Given the description of an element on the screen output the (x, y) to click on. 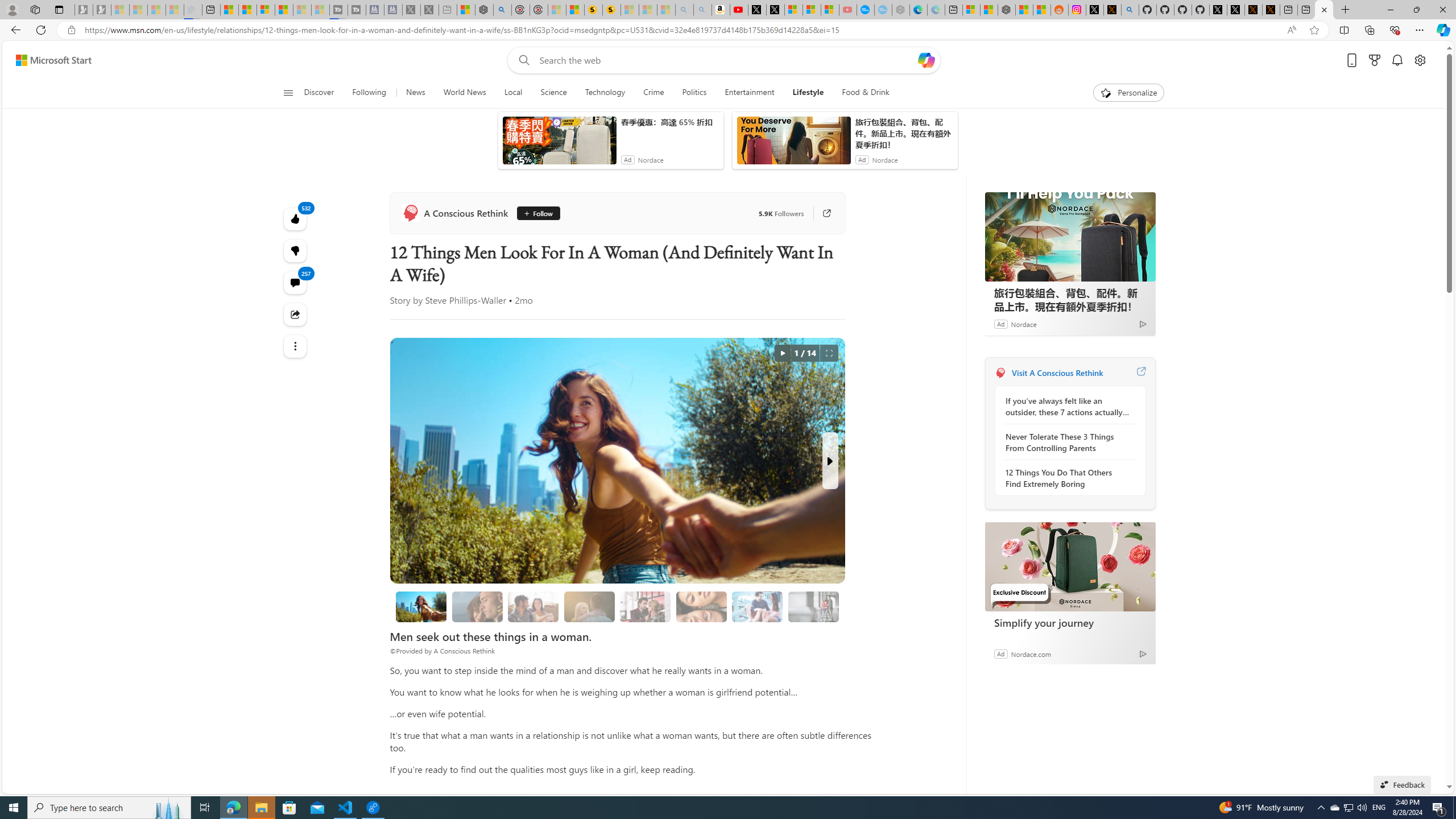
These 5 Giant Animals Walked Alongside Ancient Humans (807, 298)
Larger map  (1077, 282)
Heat - Severe (1126, 204)
Health (746, 151)
49 Like (652, 327)
Irish Star (647, 270)
View comments 9 Comment (703, 327)
443 Like (654, 327)
Autos (850, 151)
Open Copilot (926, 78)
